Given the description of an element on the screen output the (x, y) to click on. 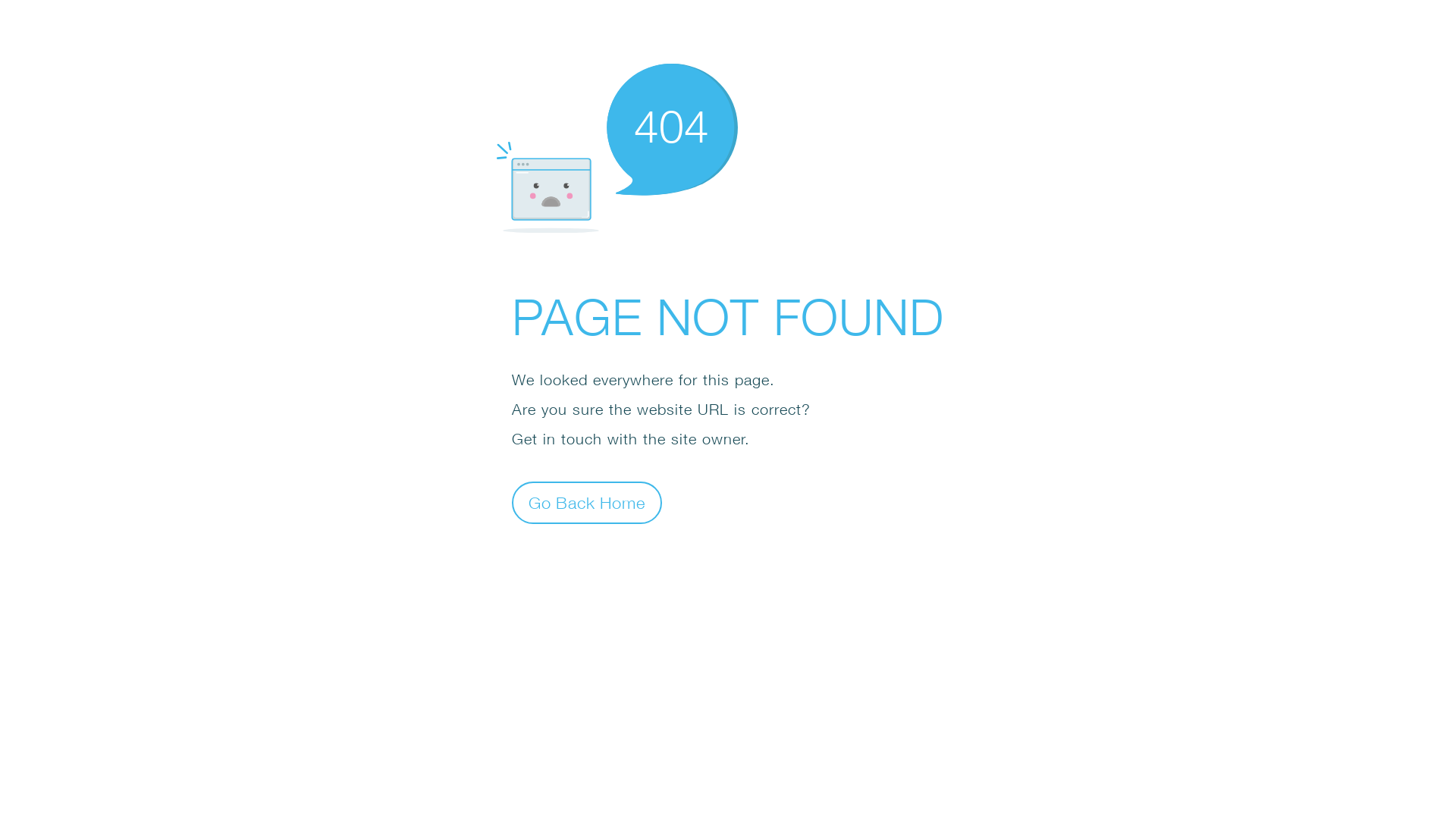
Go Back Home Element type: text (586, 502)
